Given the description of an element on the screen output the (x, y) to click on. 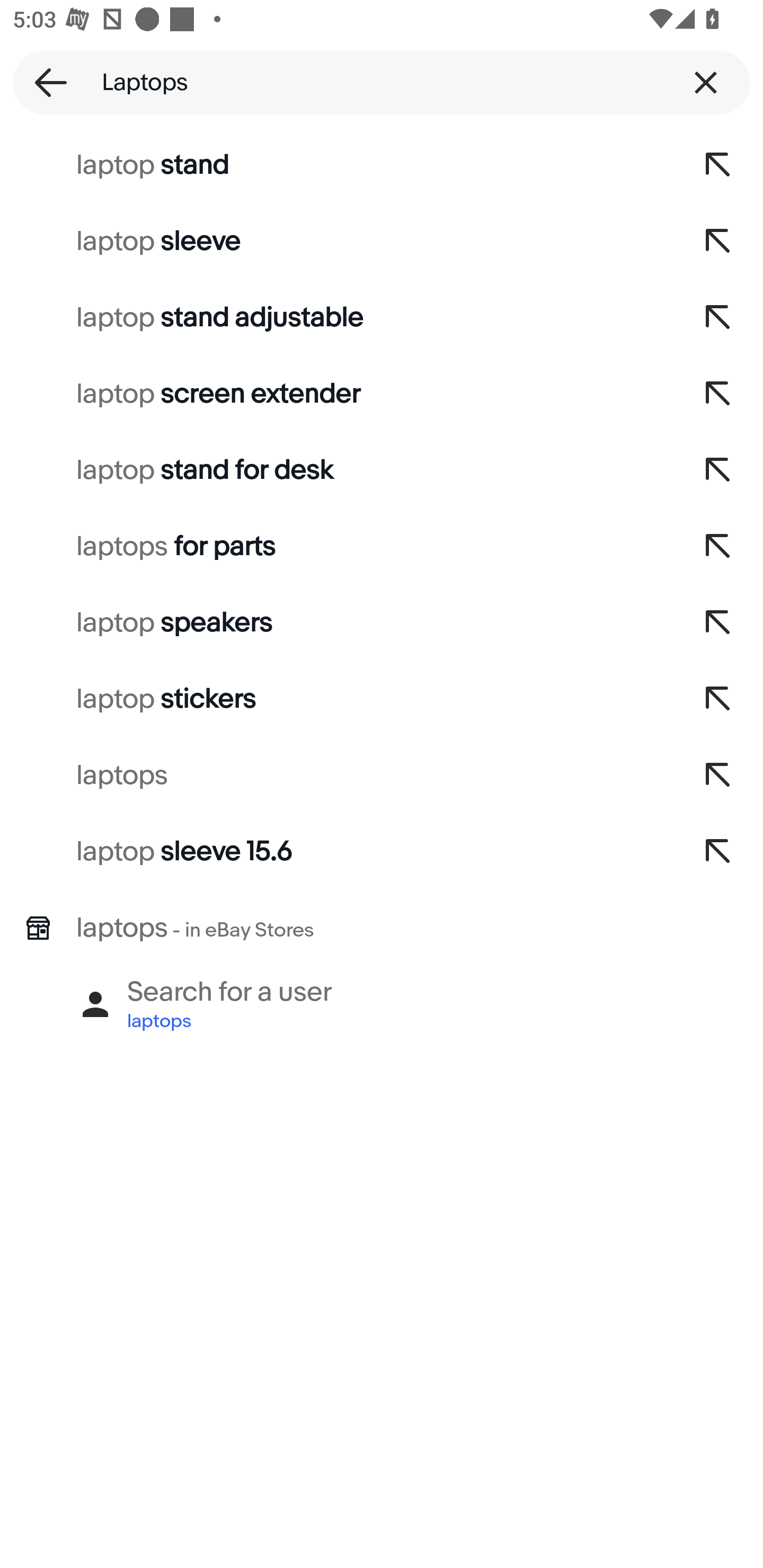
Back (44, 82)
Clear query (705, 82)
Laptops (381, 82)
laptop stand (336, 165)
Add to search query,laptop stand (718, 165)
laptop sleeve (336, 241)
Add to search query,laptop sleeve (718, 241)
laptop stand adjustable (336, 317)
Add to search query,laptop stand adjustable (718, 317)
laptop screen extender (336, 393)
Add to search query,laptop screen extender (718, 393)
laptop stand for desk (336, 470)
Add to search query,laptop stand for desk (718, 470)
laptops for parts (336, 546)
Add to search query,laptops for parts (718, 546)
laptop speakers (336, 622)
Add to search query,laptop speakers (718, 622)
laptop stickers (336, 698)
Add to search query,laptop stickers (718, 698)
laptops (336, 774)
Add to search query,laptops (718, 774)
laptop sleeve 15.6 (336, 851)
Add to search query,laptop sleeve 15.6 (718, 851)
laptops - in eBay Stores Store search (381, 927)
Search for a user
laptops (381, 1003)
